Given the description of an element on the screen output the (x, y) to click on. 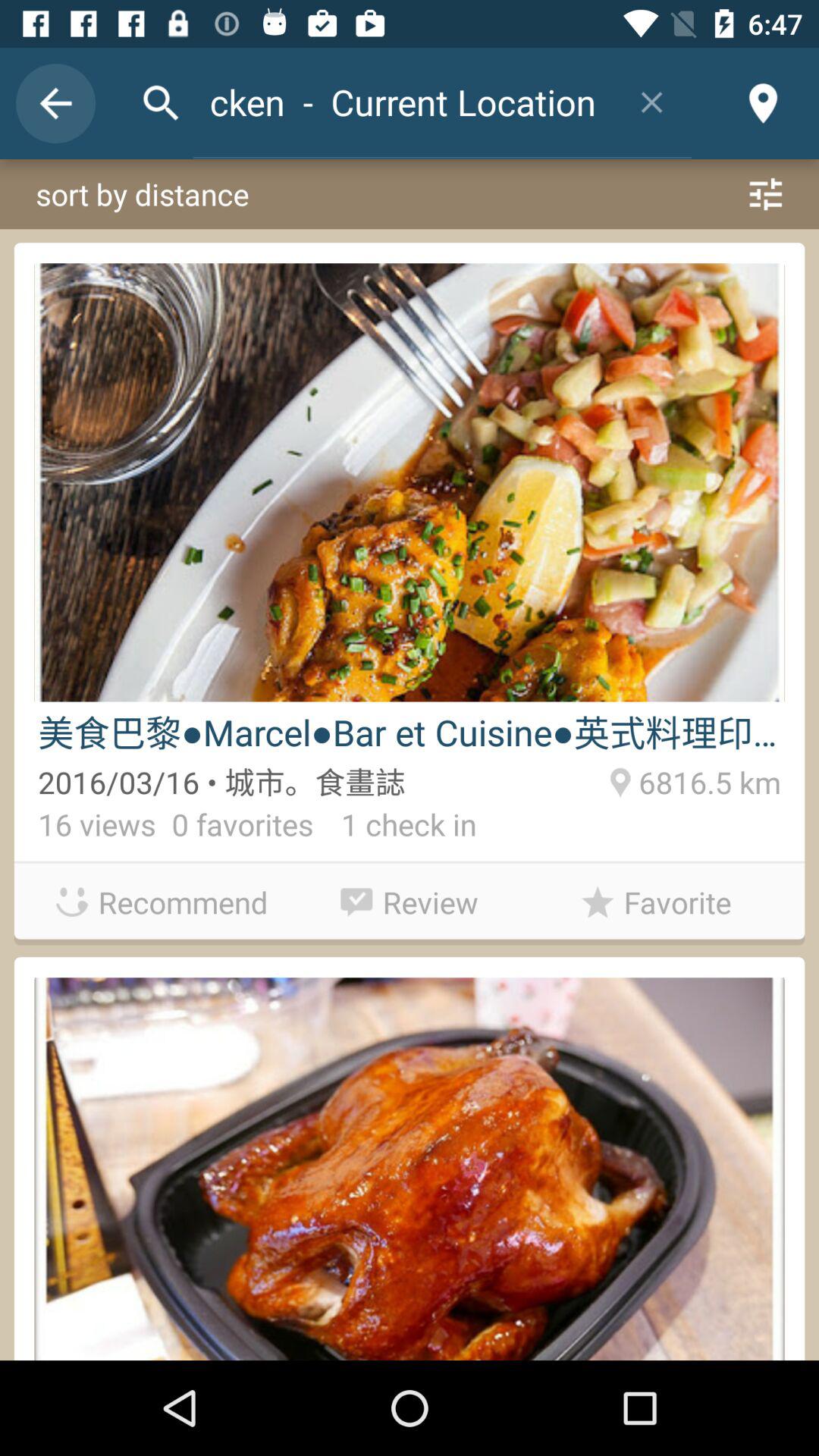
open the review (409, 898)
